Given the description of an element on the screen output the (x, y) to click on. 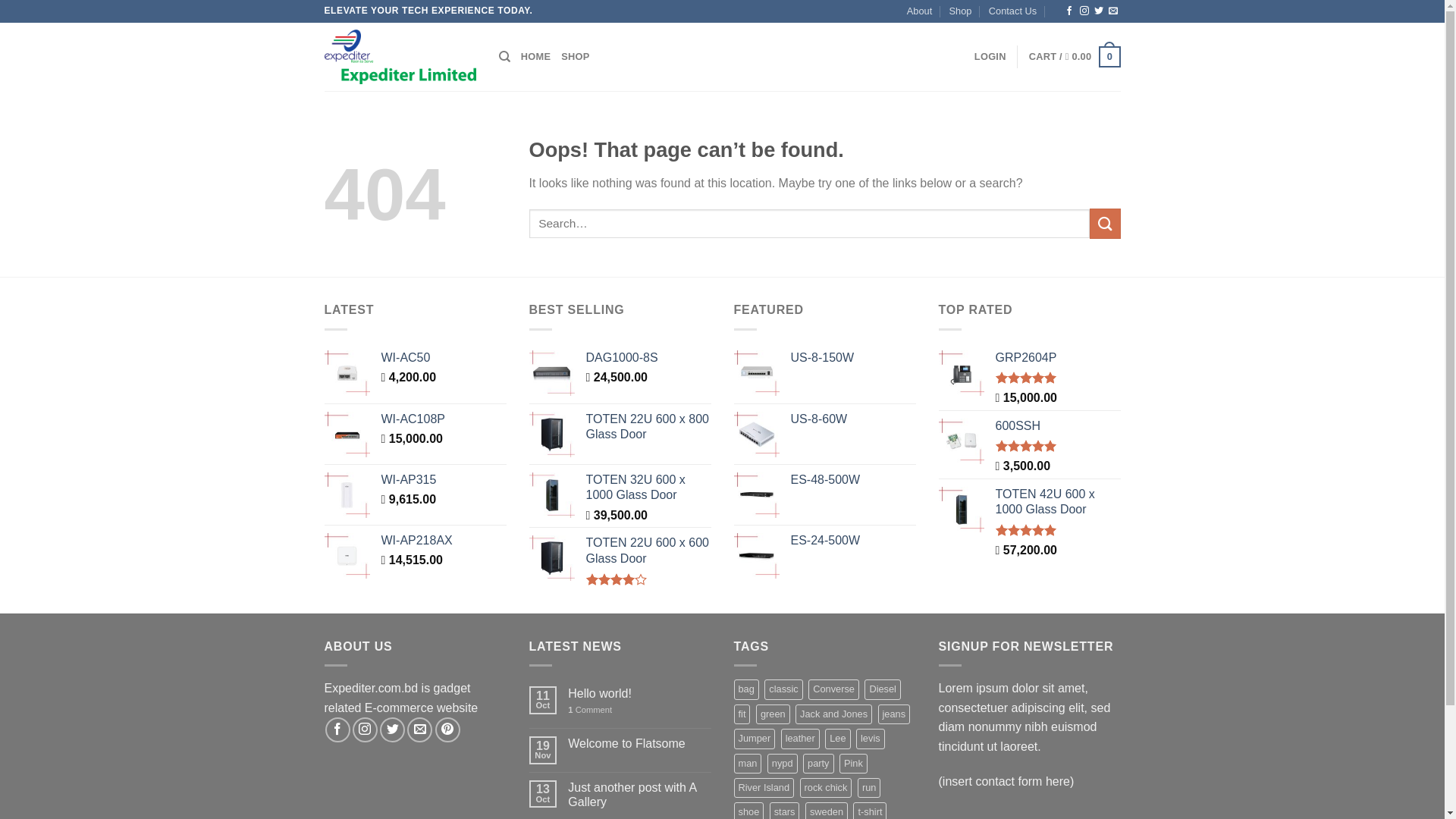
TOTEN 42U 600 x 1000 Glass Door Element type: text (1057, 502)
Follow on Instagram Element type: hover (1083, 11)
nypd Element type: text (782, 763)
LOGIN Element type: text (990, 56)
SHOP Element type: text (575, 56)
Welcome to Flatsome Element type: text (638, 743)
Jack and Jones Element type: text (833, 714)
DAG1000-8S Element type: text (647, 358)
Hello world! Element type: text (638, 693)
1 Comment Element type: text (638, 710)
Lee Element type: text (837, 738)
Follow on Twitter Element type: hover (391, 729)
Follow on Pinterest Element type: hover (447, 729)
levis Element type: text (870, 738)
WI-AP218AX Element type: text (442, 541)
leather Element type: text (800, 738)
Shop Element type: text (960, 11)
WI-AC108P Element type: text (442, 419)
bag Element type: text (746, 689)
Send us an email Element type: hover (419, 729)
Follow on Facebook Element type: hover (337, 729)
HOME Element type: text (535, 56)
jeans Element type: text (894, 714)
Jumper Element type: text (754, 738)
About Element type: text (918, 11)
Follow on Instagram Element type: hover (364, 729)
run Element type: text (869, 787)
GRP2604P Element type: text (1057, 358)
TOTEN 32U 600 x 1000 Glass Door Element type: text (647, 488)
US-8-60W Element type: text (852, 419)
fit Element type: text (742, 714)
Follow on Twitter Element type: hover (1098, 11)
River Island Element type: text (764, 787)
Follow on Facebook Element type: hover (1068, 11)
Pink Element type: text (853, 763)
600SSH Element type: text (1057, 426)
ES-48-500W Element type: text (852, 480)
WI-AP315 Element type: text (442, 480)
classic Element type: text (783, 689)
TOTEN 22U 600 x 800 Glass Door Element type: text (647, 427)
party Element type: text (818, 763)
ES-24-500W Element type: text (852, 541)
Contact Us Element type: text (1012, 11)
TOTEN 22U 600 x 600 Glass Door Element type: text (647, 551)
Diesel Element type: text (882, 689)
US-8-150W Element type: text (852, 358)
Expediter Limited Element type: hover (400, 56)
Just another post with A Gallery Element type: text (638, 794)
rock chick Element type: text (826, 787)
green Element type: text (773, 714)
Send us an email Element type: hover (1112, 11)
WI-AC50 Element type: text (442, 358)
man Element type: text (748, 763)
Converse Element type: text (833, 689)
